Given the description of an element on the screen output the (x, y) to click on. 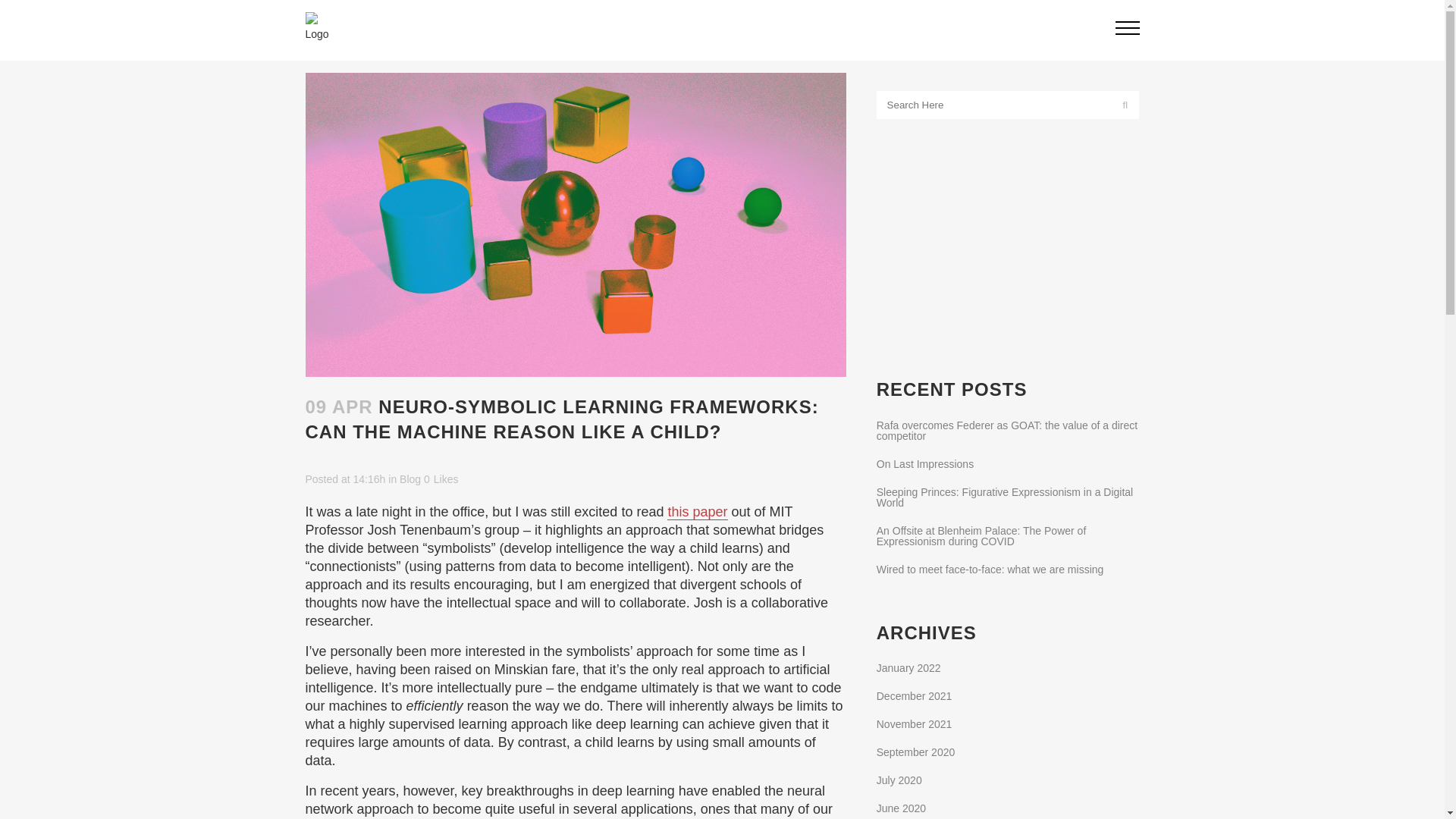
0 Likes (440, 479)
Blog (409, 479)
On Last Impressions (925, 463)
Like this (440, 479)
November 2021 (914, 724)
September 2020 (915, 752)
Wired to meet face-to-face: what we are missing (989, 569)
December 2021 (914, 695)
June 2020 (901, 808)
July 2020 (898, 779)
January 2022 (908, 667)
